Given the description of an element on the screen output the (x, y) to click on. 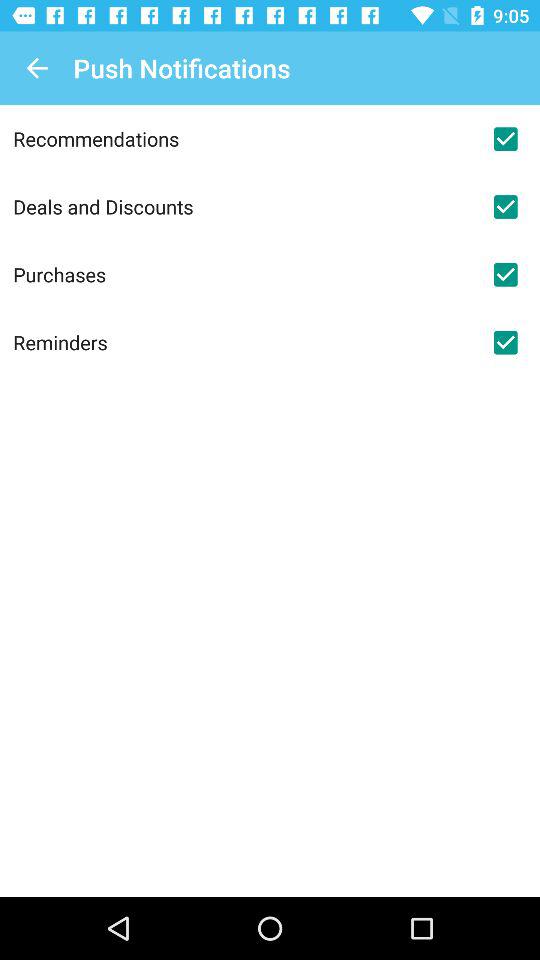
toggle reminders (505, 342)
